Given the description of an element on the screen output the (x, y) to click on. 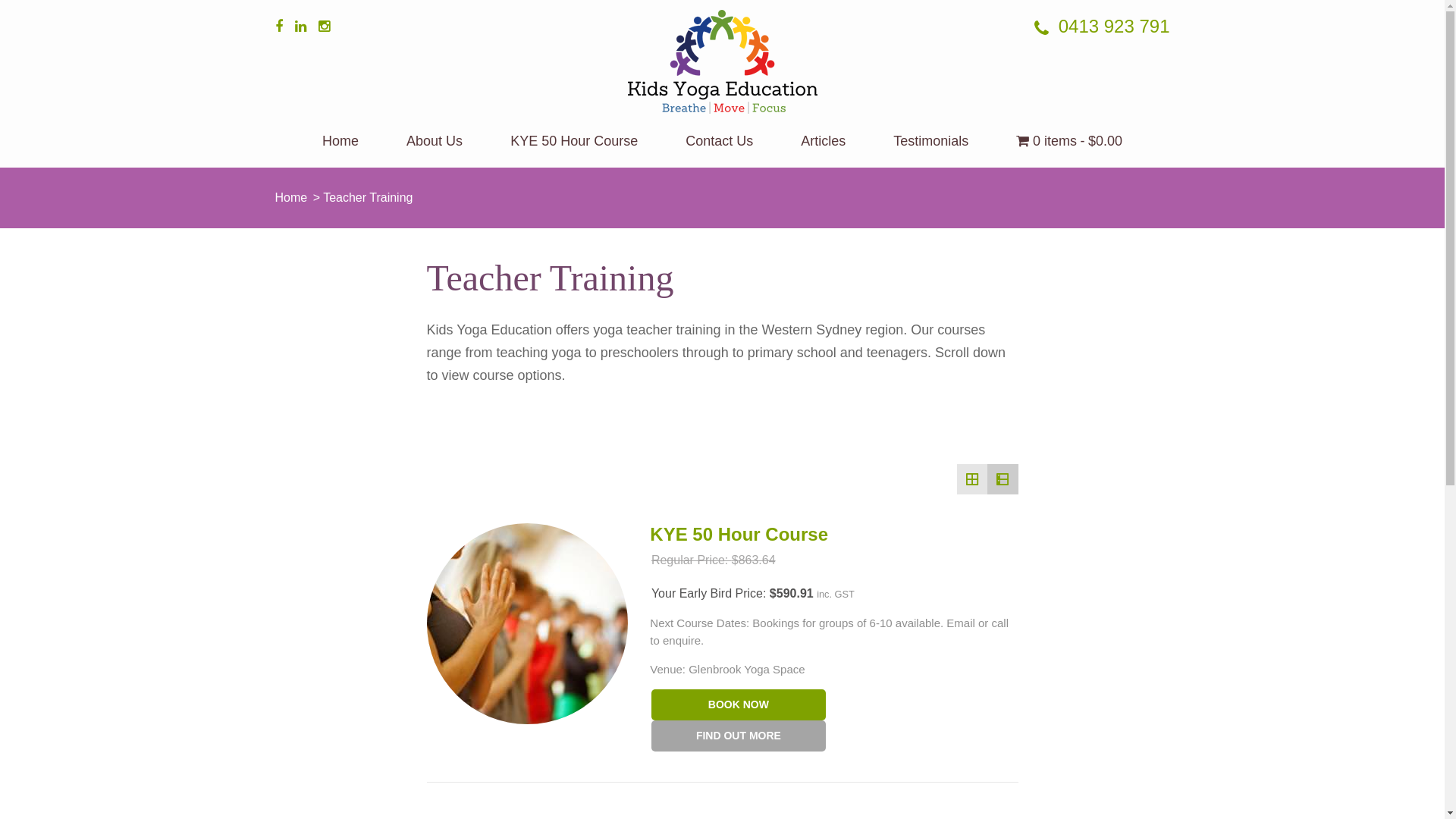
Testimonials Element type: text (930, 150)
Contact Us Element type: text (719, 150)
Home Element type: text (340, 150)
0413 923 791 Element type: text (1101, 26)
Home Element type: text (290, 197)
FIND OUT MORE Element type: text (738, 735)
Kids Yoga Education Element type: text (370, 132)
Grid view Element type: hover (972, 479)
KYE 50 Hour Course Element type: text (573, 150)
BOOK NOW Element type: text (738, 704)
About Us Element type: text (434, 150)
0 items$0.00 Element type: text (1069, 150)
Articles Element type: text (822, 150)
List view Element type: hover (1002, 479)
